Given the description of an element on the screen output the (x, y) to click on. 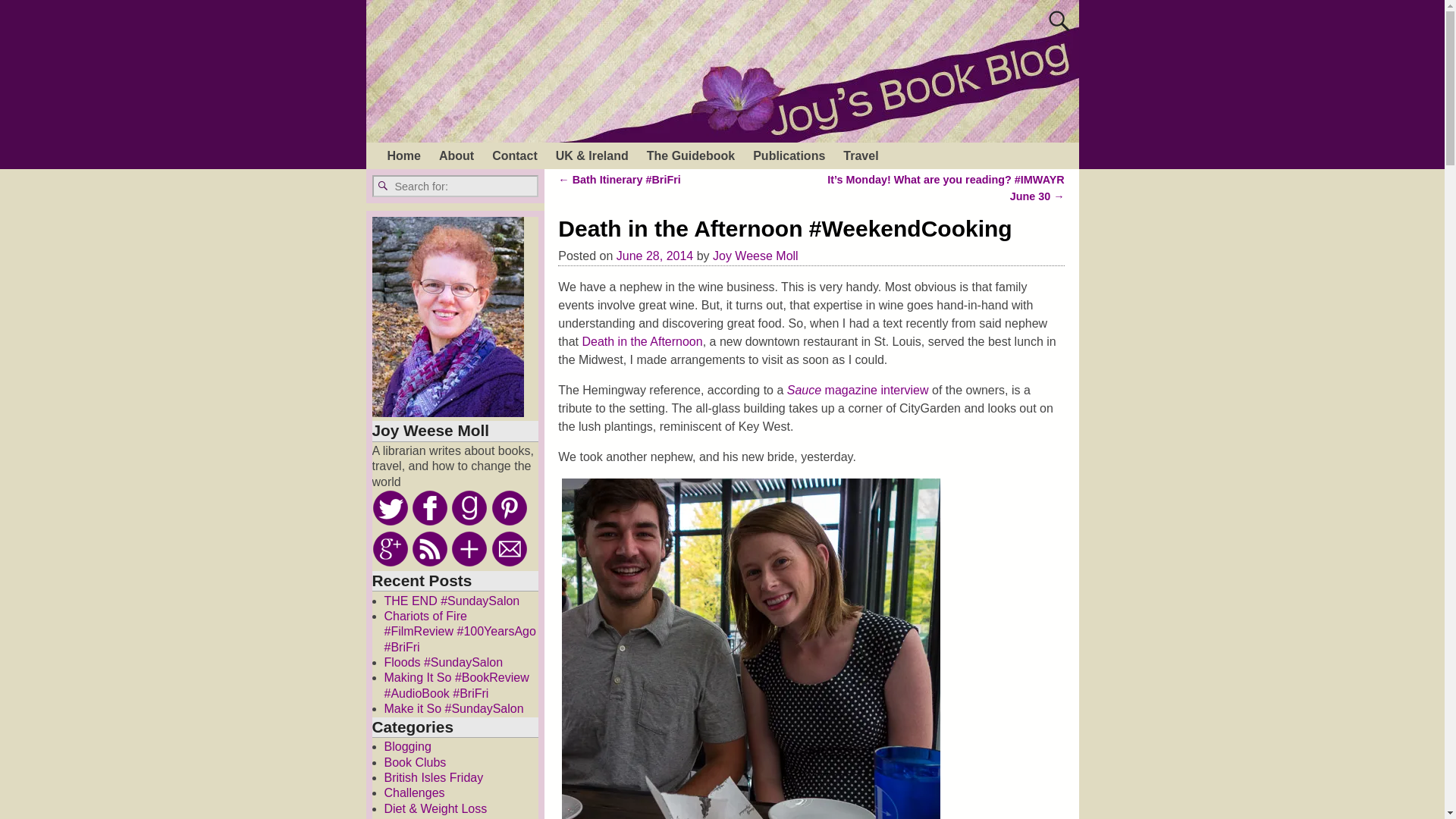
Sauce magazine interview (857, 390)
Joy Weese Moll (755, 255)
Home (403, 155)
Publications (789, 155)
Death in the Afternoon (640, 341)
Joy Weese Moll on Goodreads (469, 507)
The Guidebook (690, 155)
Contact (515, 155)
Joy Weese Moll on Pinterest (509, 507)
About (456, 155)
Joy Weese Moll on Twitter (389, 507)
7:55 am (654, 255)
View all posts by Joy Weese Moll (755, 255)
Home (403, 155)
Travel (860, 155)
